Given the description of an element on the screen output the (x, y) to click on. 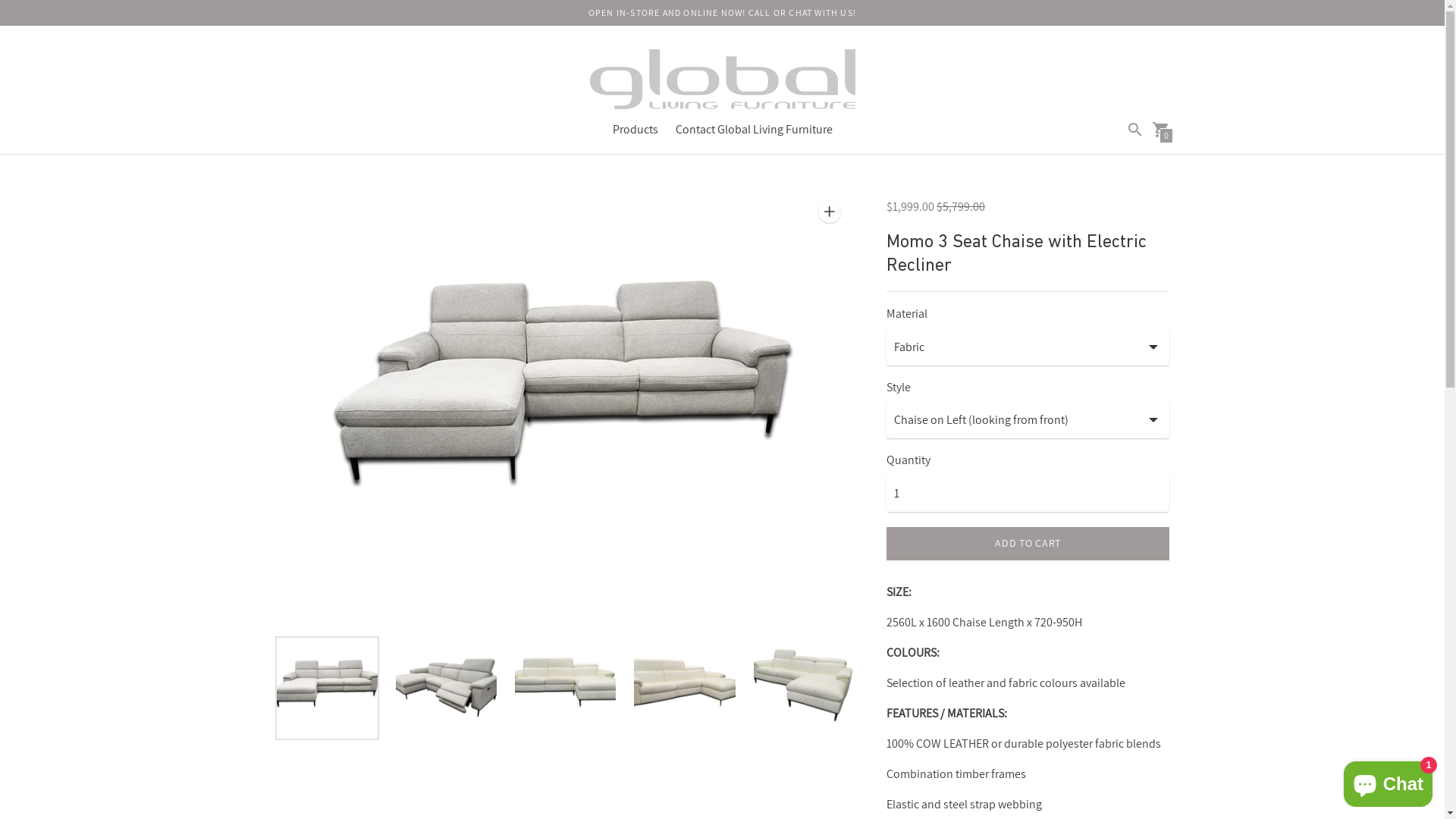
Products Element type: text (635, 129)
0 Element type: text (1160, 128)
ADD TO CART Element type: text (1027, 543)
Contact Global Living Furniture Element type: text (752, 129)
OPEN IN-STORE AND ONLINE NOW! CALL OR CHAT WITH US! Element type: text (722, 12)
Shopify online store chat Element type: hover (1388, 780)
